Given the description of an element on the screen output the (x, y) to click on. 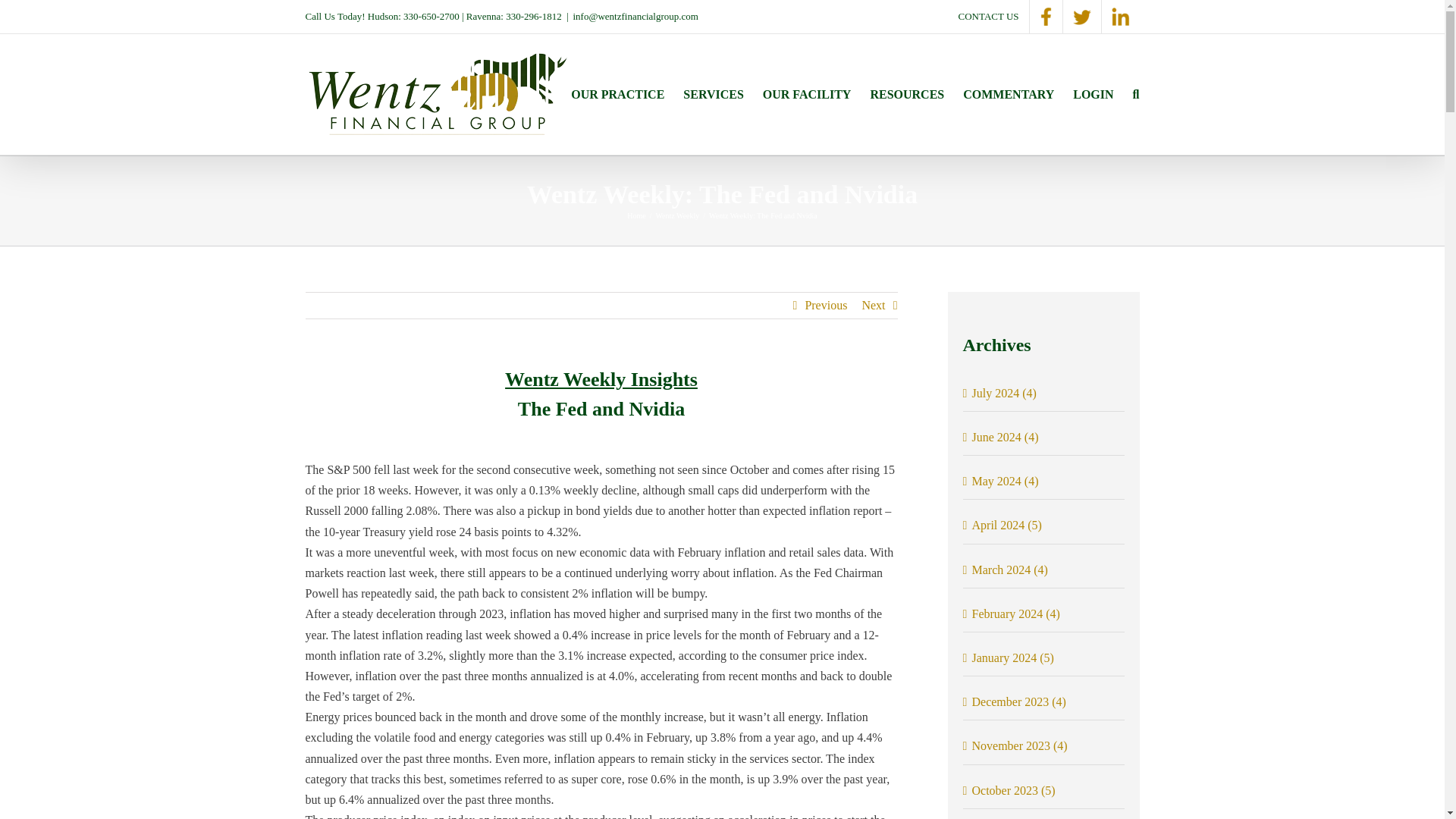
CONTACT US (989, 16)
330-650-2700 (431, 16)
330-296-1812 (533, 16)
